Given the description of an element on the screen output the (x, y) to click on. 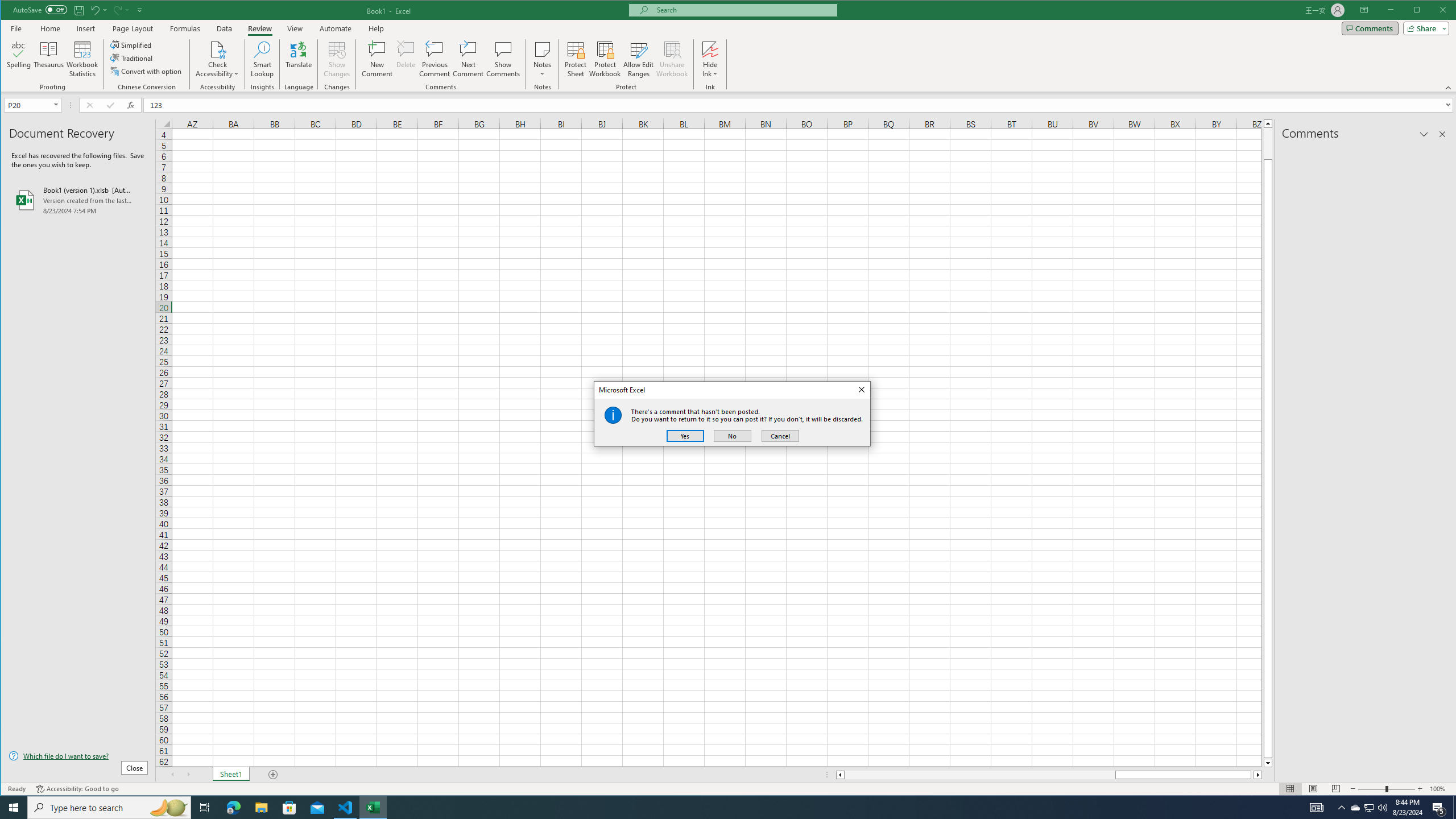
Show Changes (335, 59)
Q2790: 100% (1382, 807)
Running applications (717, 807)
Task View (204, 807)
Traditional (132, 57)
